Given the description of an element on the screen output the (x, y) to click on. 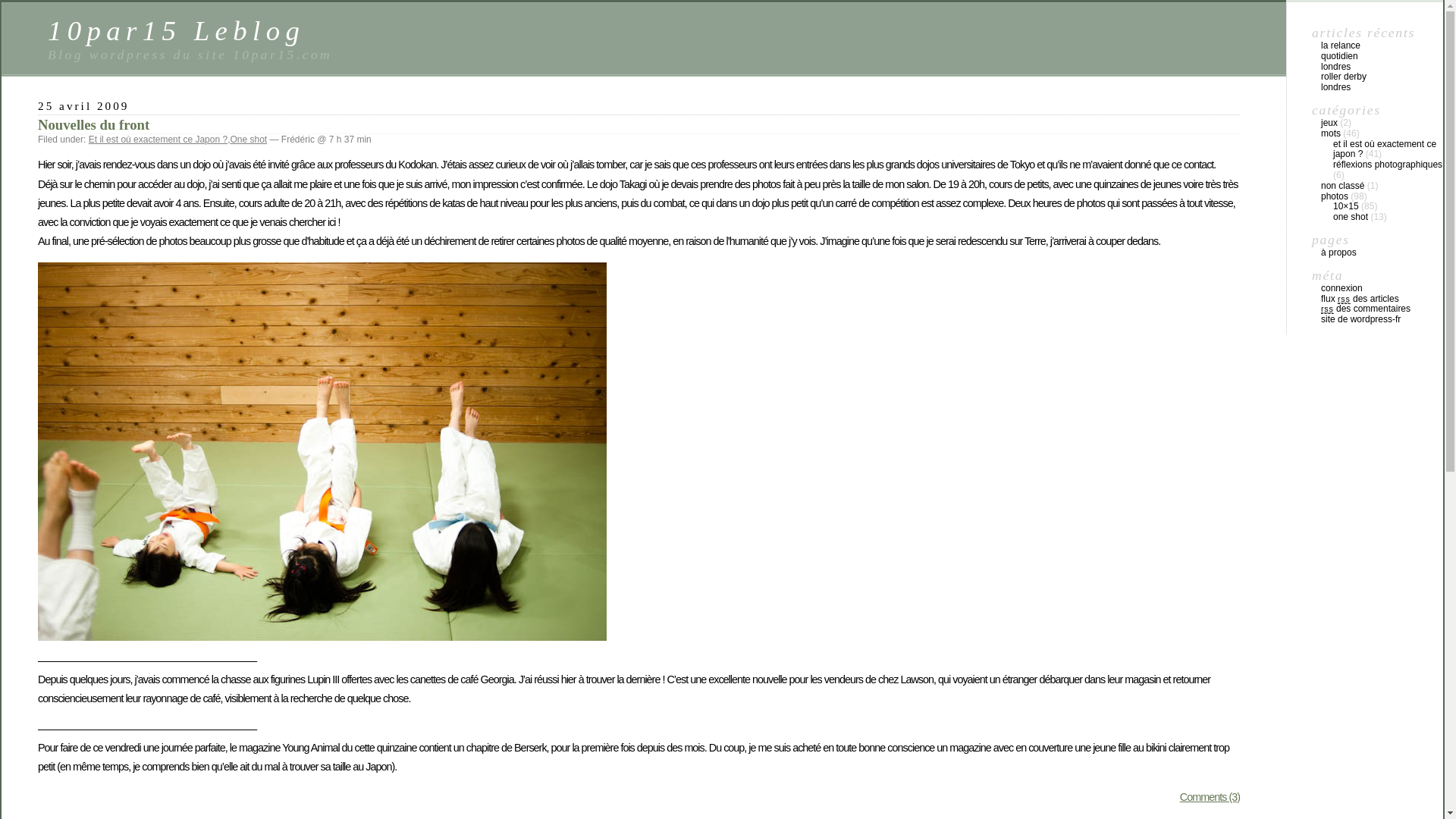
quotidien Element type: text (1339, 55)
Comments (3) Element type: text (1209, 796)
flux rss des articles Element type: text (1360, 298)
photos Element type: text (1334, 196)
londres Element type: text (1335, 86)
rss des commentaires Element type: text (1365, 308)
roller derby Element type: text (1343, 76)
la relance Element type: text (1340, 45)
one shot Element type: text (1350, 216)
londres Element type: text (1335, 66)
site de wordpress-fr Element type: text (1360, 318)
Takagi Element type: hover (321, 451)
Nouvelles du front Element type: text (93, 124)
jeux Element type: text (1329, 122)
connexion Element type: text (1341, 287)
mots Element type: text (1330, 133)
One shot Element type: text (248, 139)
10par15 Leblog Element type: text (175, 30)
